Given the description of an element on the screen output the (x, y) to click on. 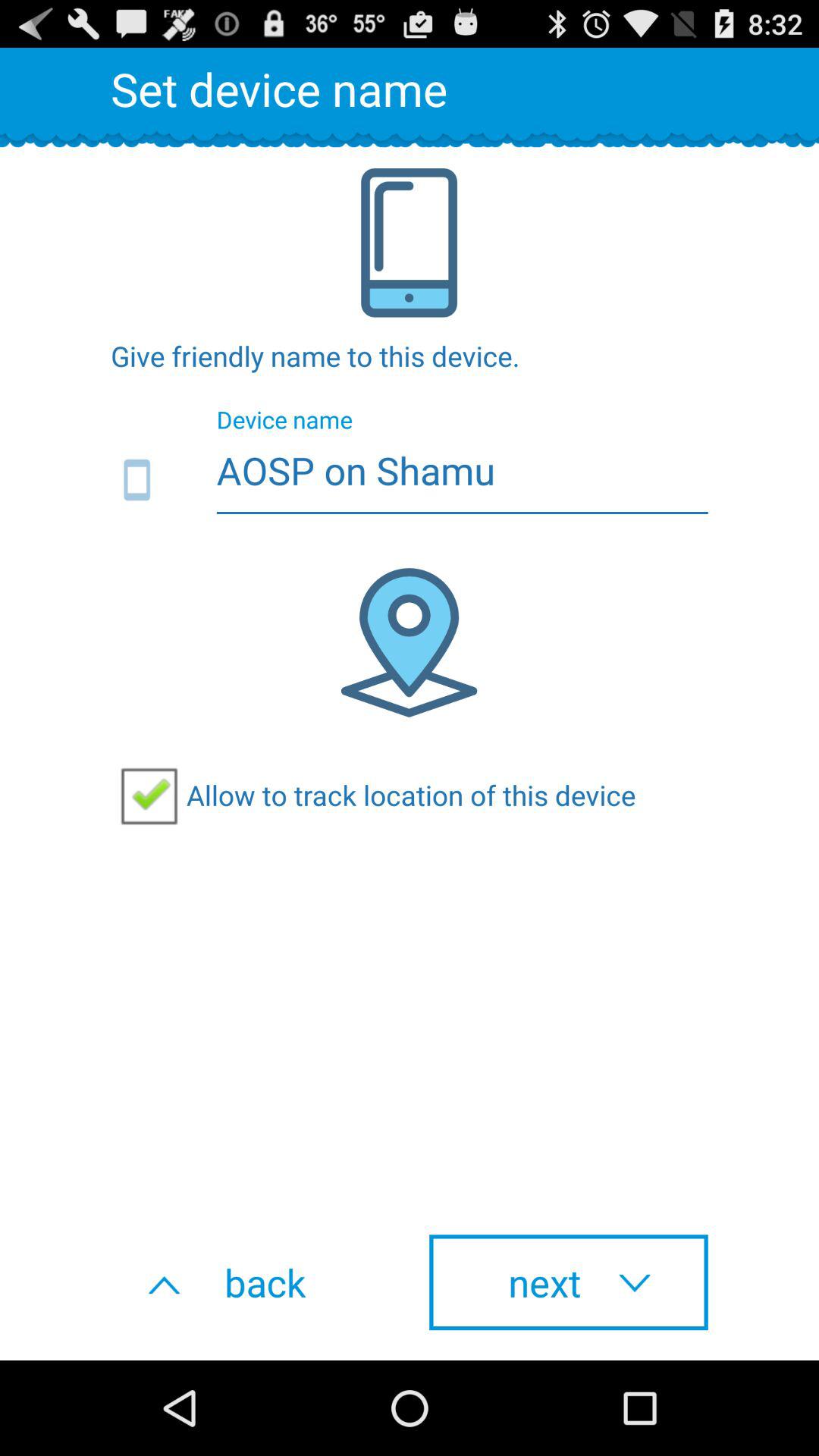
open next (568, 1282)
